Given the description of an element on the screen output the (x, y) to click on. 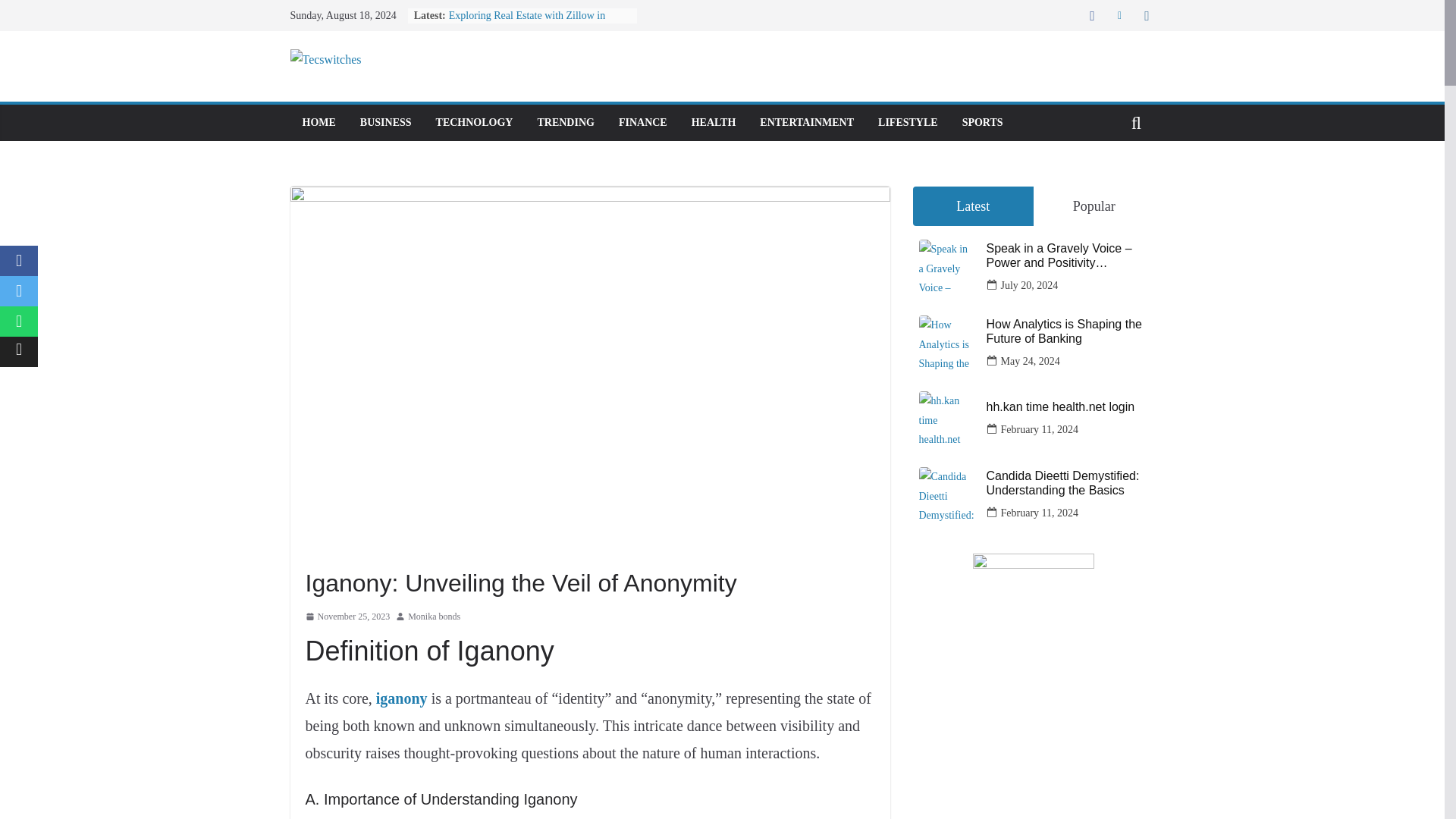
November 25, 2023 (347, 617)
February 11, 2024 (1039, 512)
February 11, 2024 (1039, 429)
May 24, 2024 (1030, 361)
Exploring Real Estate with Zillow in Kennewick, WA (526, 22)
SPORTS (982, 122)
How Analytics is Shaping the Future of Banking (1066, 330)
Exploring Real Estate with Zillow in Kennewick, WA (526, 22)
BUSINESS (385, 122)
iganony (401, 698)
